Given the description of an element on the screen output the (x, y) to click on. 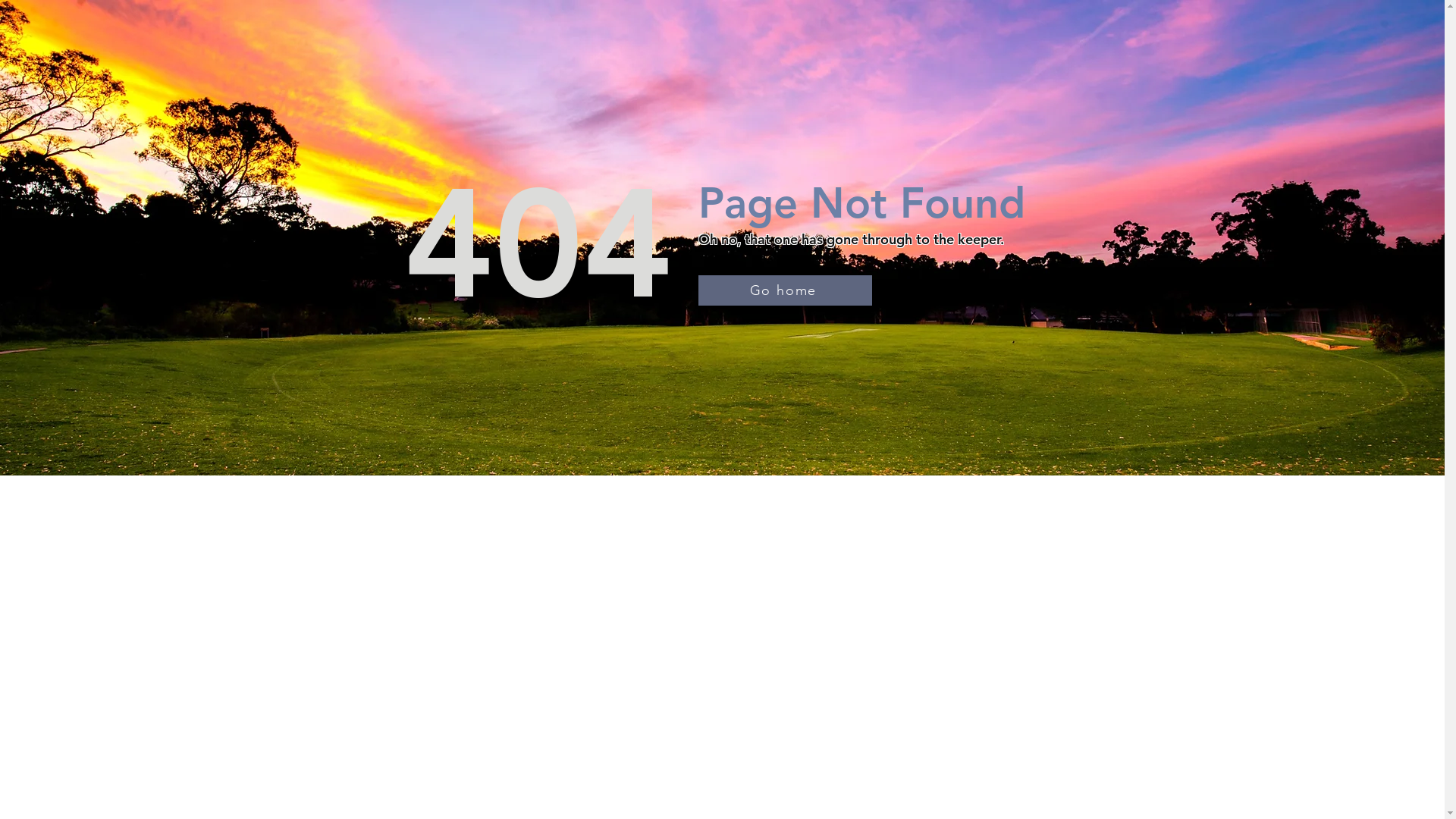
Go home Element type: text (784, 290)
